Given the description of an element on the screen output the (x, y) to click on. 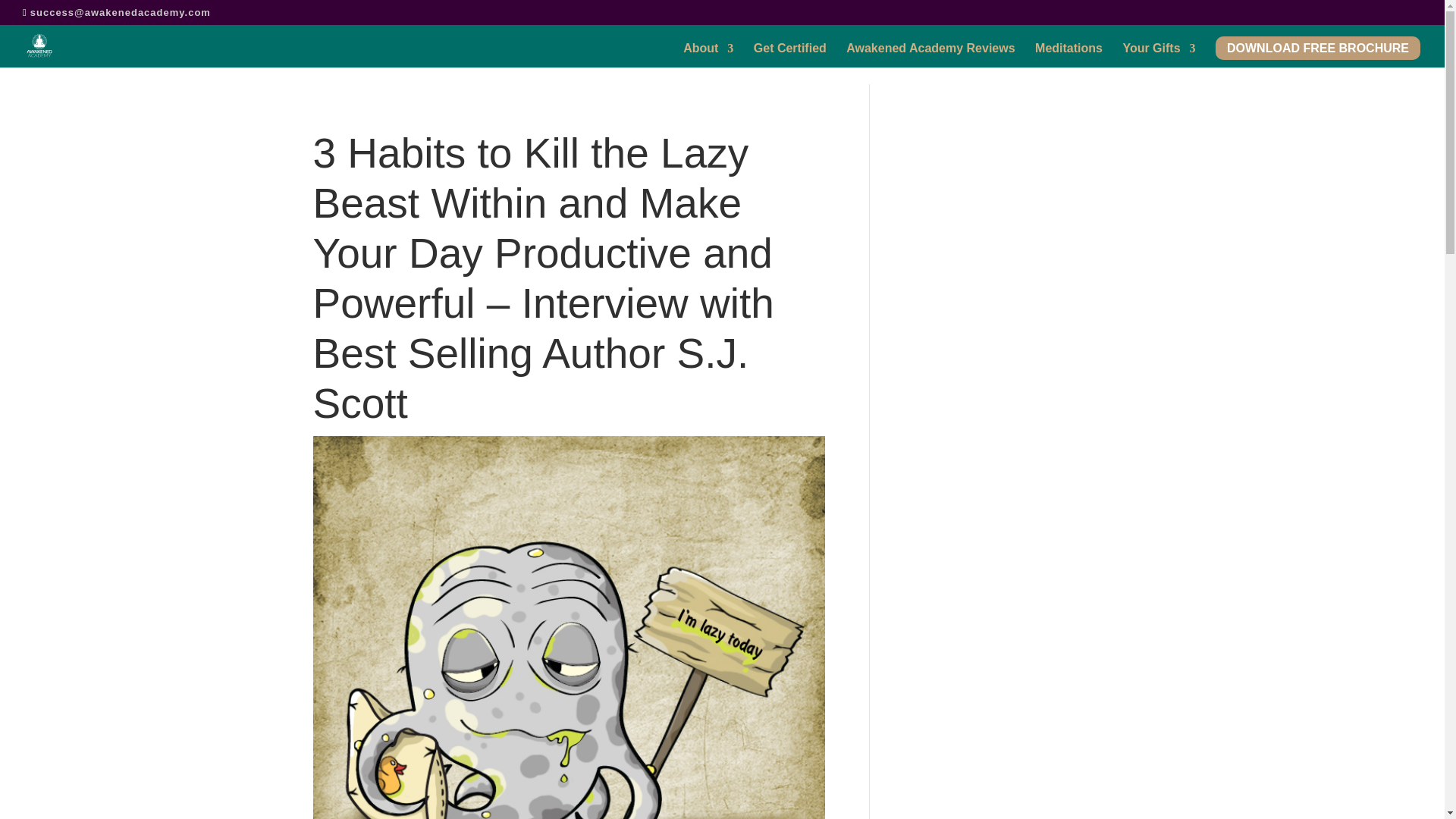
DOWNLOAD FREE BROCHURE (1318, 55)
Meditations (1068, 55)
Get Certified (790, 55)
Awakened Academy Reviews (929, 55)
About (707, 55)
Your Gifts (1158, 55)
